Given the description of an element on the screen output the (x, y) to click on. 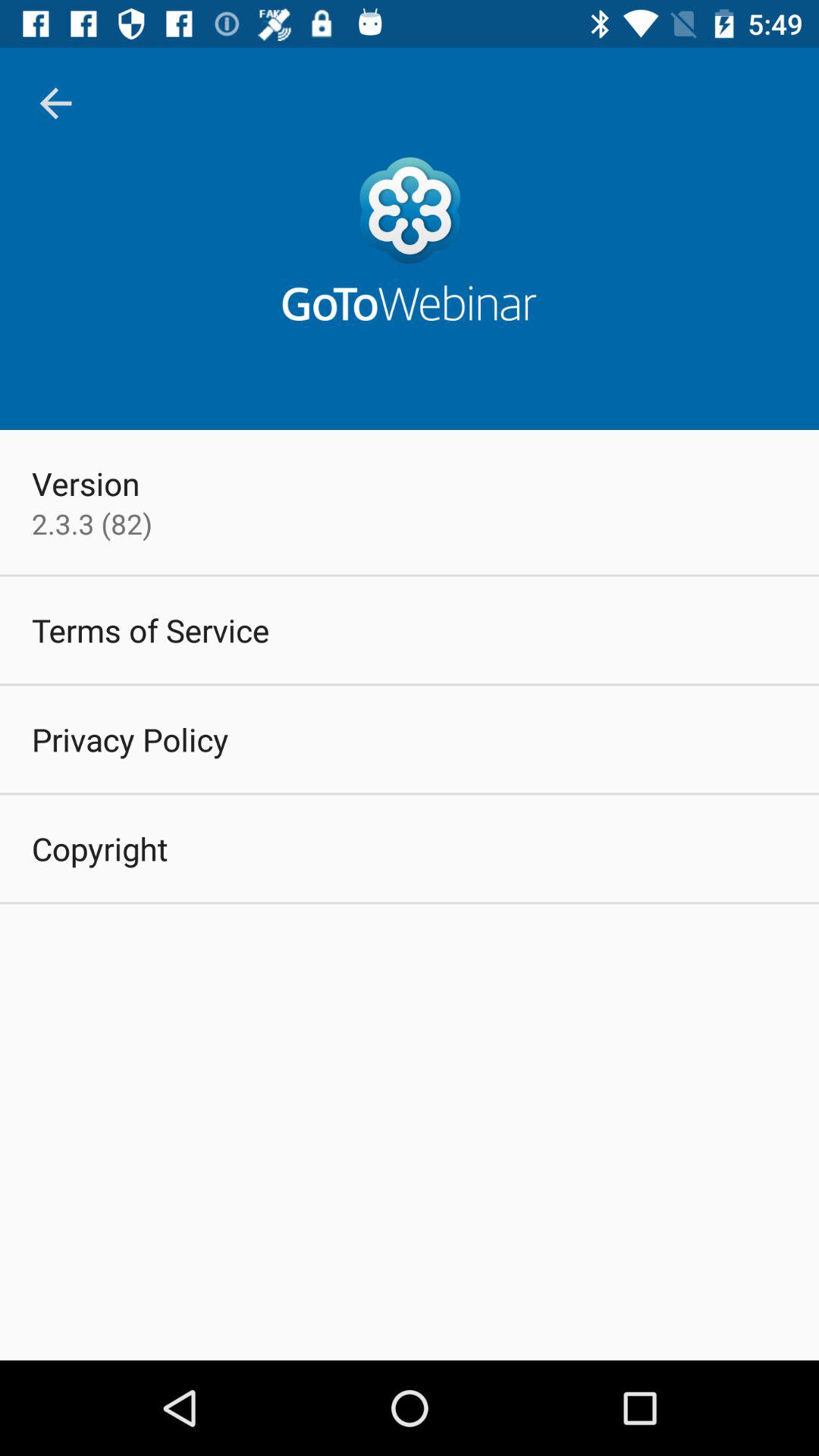
open icon above privacy policy (150, 629)
